Given the description of an element on the screen output the (x, y) to click on. 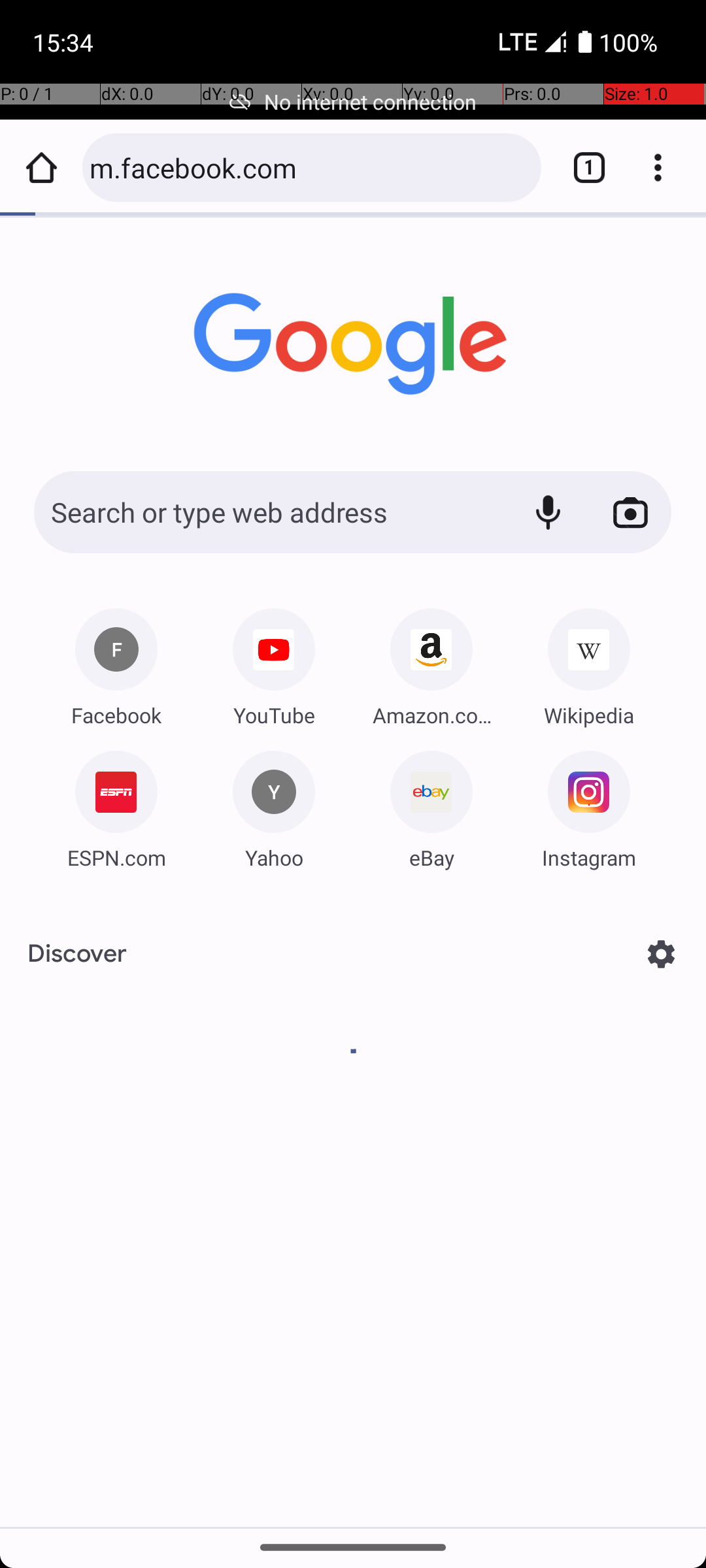
m.facebook.com Element type: android.widget.EditText (308, 167)
